Given the description of an element on the screen output the (x, y) to click on. 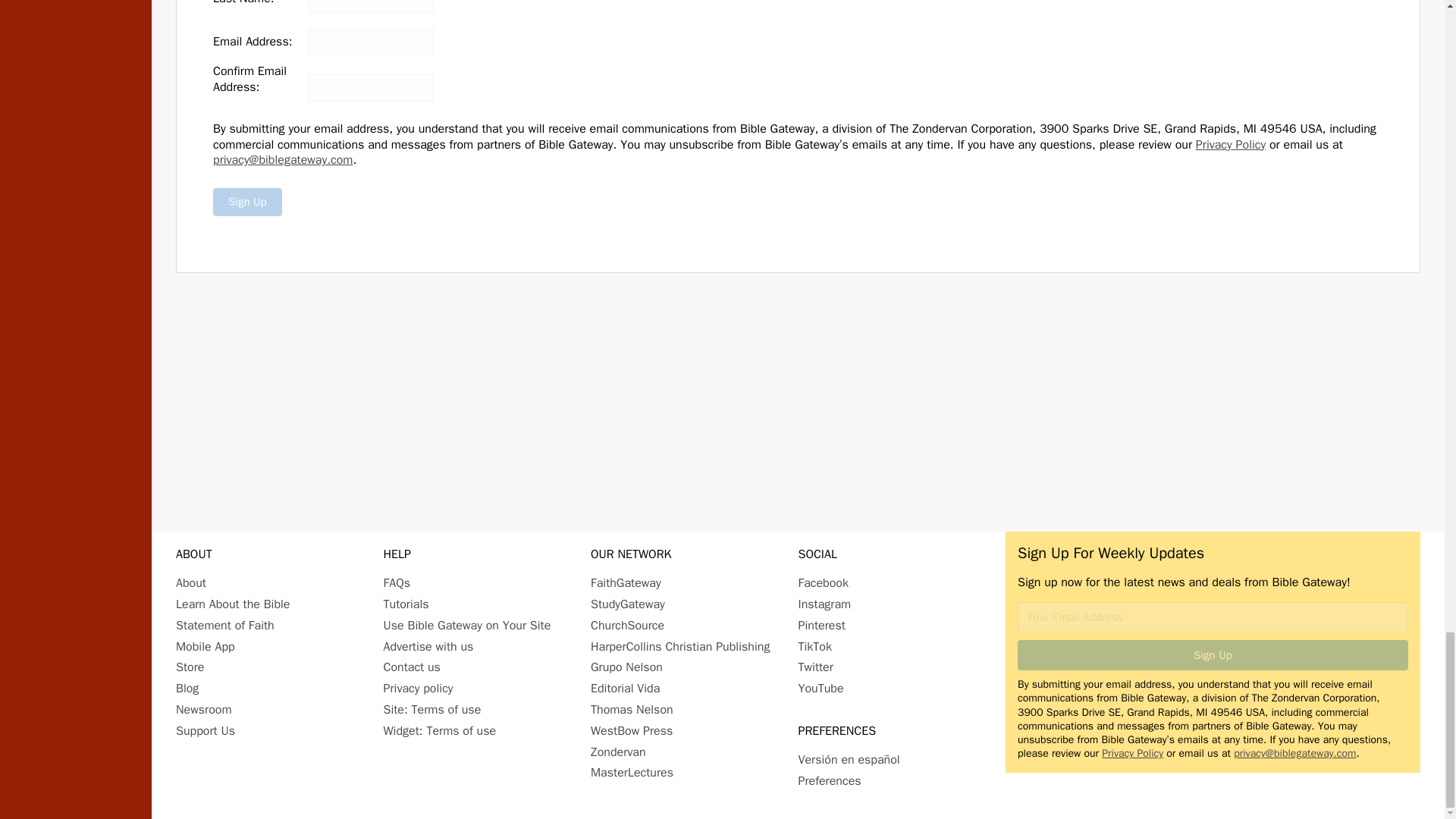
Sign Up (1212, 654)
Widget: Terms of use (440, 730)
Set your preferences for BibleGateway.com (828, 780)
Sign Up (247, 202)
Site: Terms of use (432, 709)
